Given the description of an element on the screen output the (x, y) to click on. 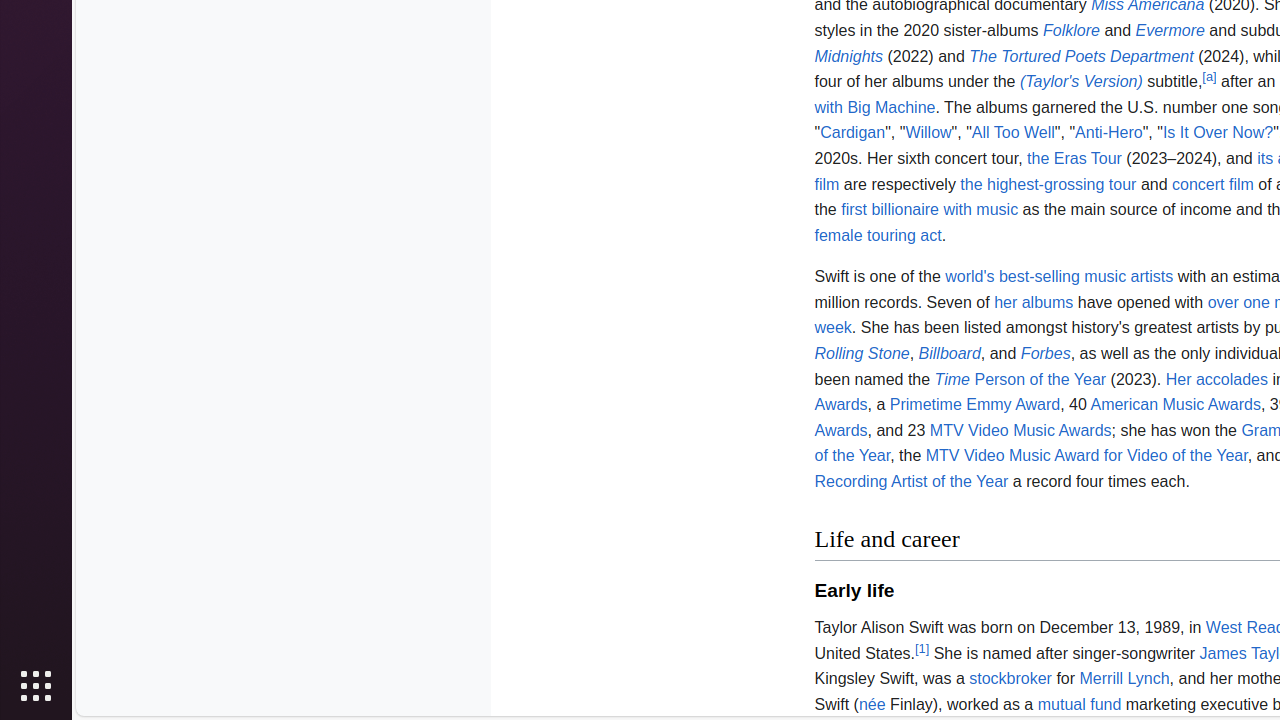
Merrill Lynch Element type: link (1124, 679)
MTV Video Music Awards Element type: link (1020, 430)
All Too Well Element type: link (1013, 133)
Midnights Element type: link (848, 56)
Cardigan Element type: link (853, 133)
